Given the description of an element on the screen output the (x, y) to click on. 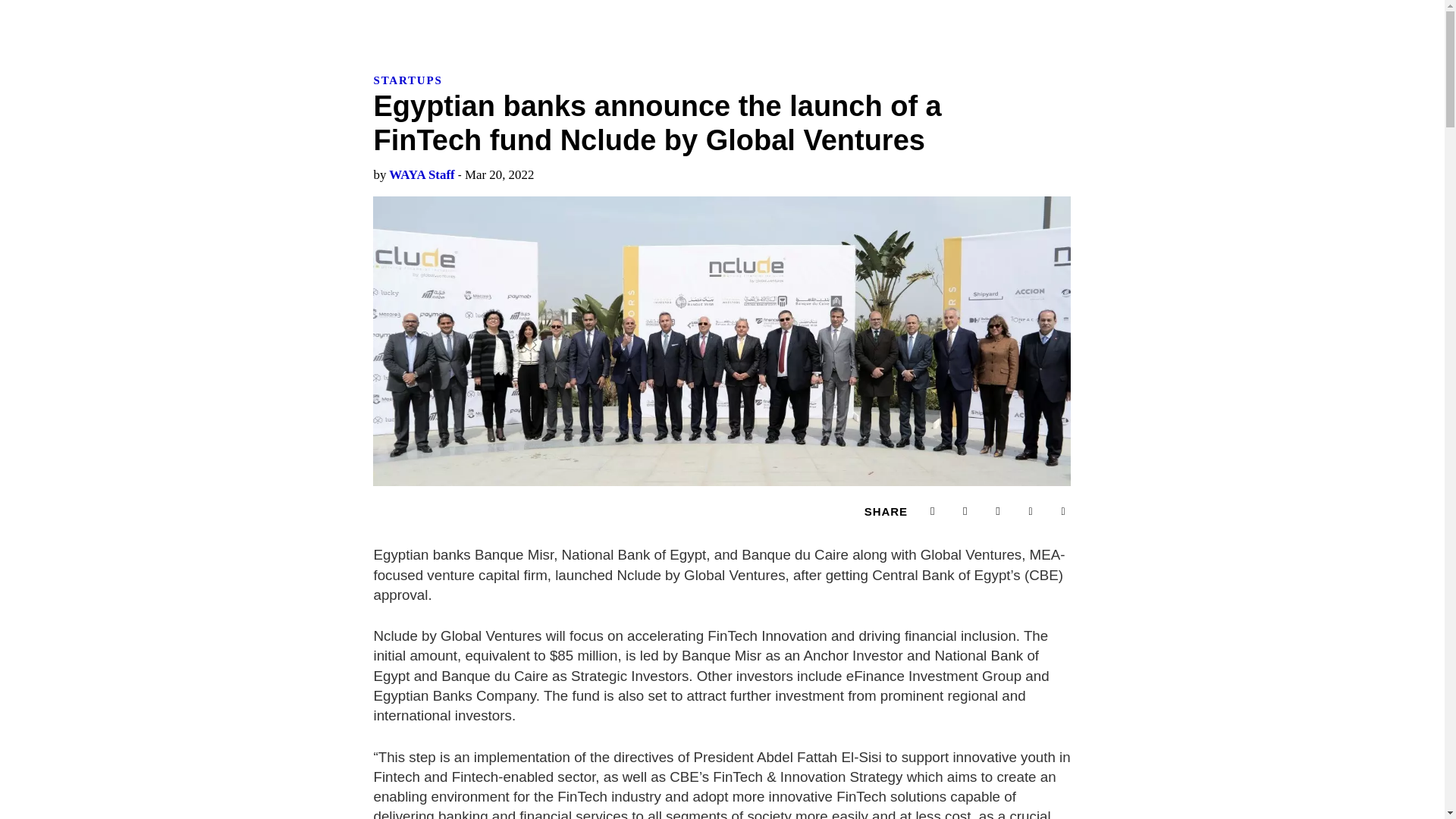
CONTACT (664, 18)
MORE (593, 18)
Watch (465, 18)
About (528, 18)
WATCH (465, 18)
ABOUT (528, 18)
READ (401, 18)
Read (401, 18)
